Given the description of an element on the screen output the (x, y) to click on. 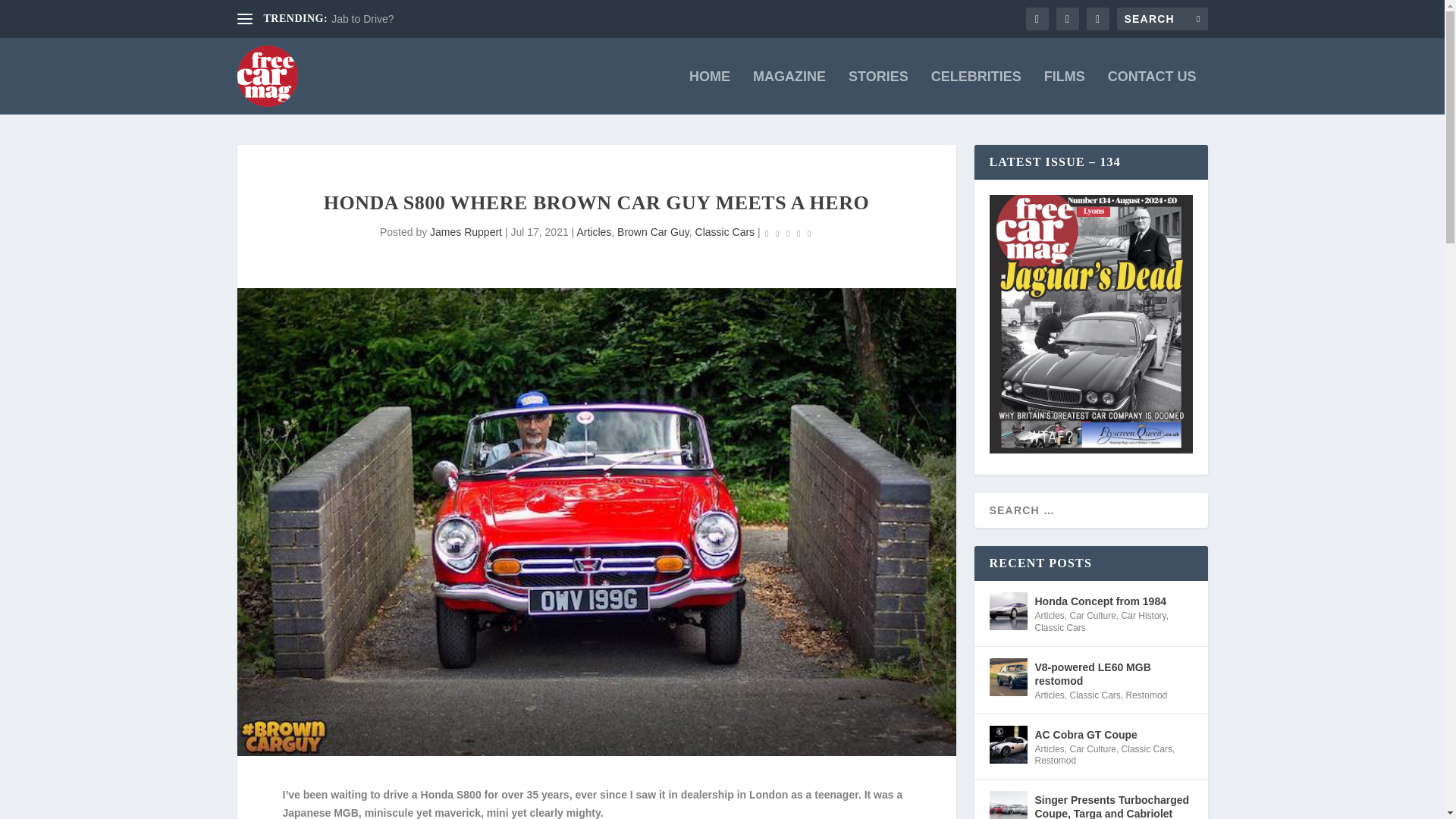
CELEBRITIES (976, 92)
STORIES (878, 92)
Brown Car Guy (652, 232)
Jab to Drive? (362, 19)
CONTACT US (1152, 92)
Posts by James Ruppert (465, 232)
Rating: 0.00 (787, 232)
James Ruppert (465, 232)
Search for: (1161, 18)
Classic Cars (725, 232)
